Given the description of an element on the screen output the (x, y) to click on. 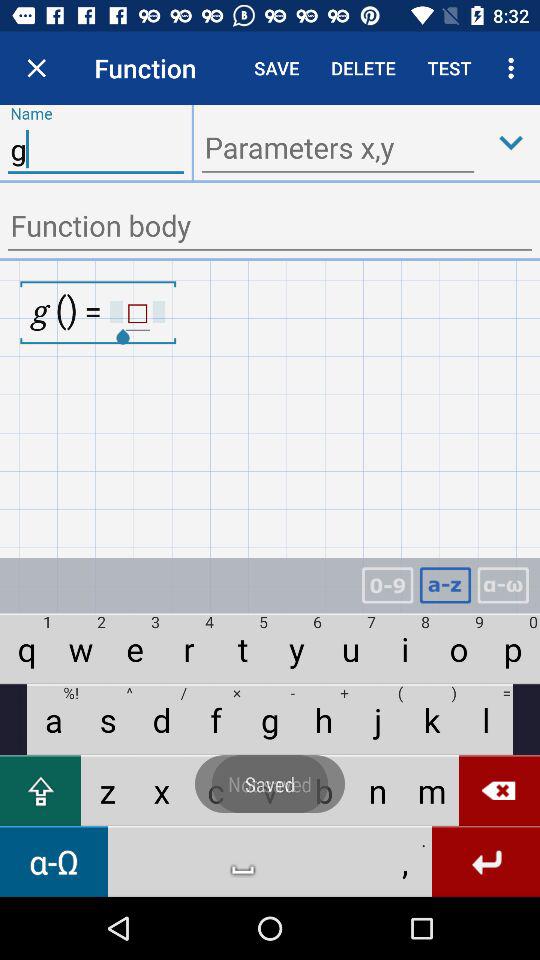
display greek alphabet keyboard (503, 585)
